Given the description of an element on the screen output the (x, y) to click on. 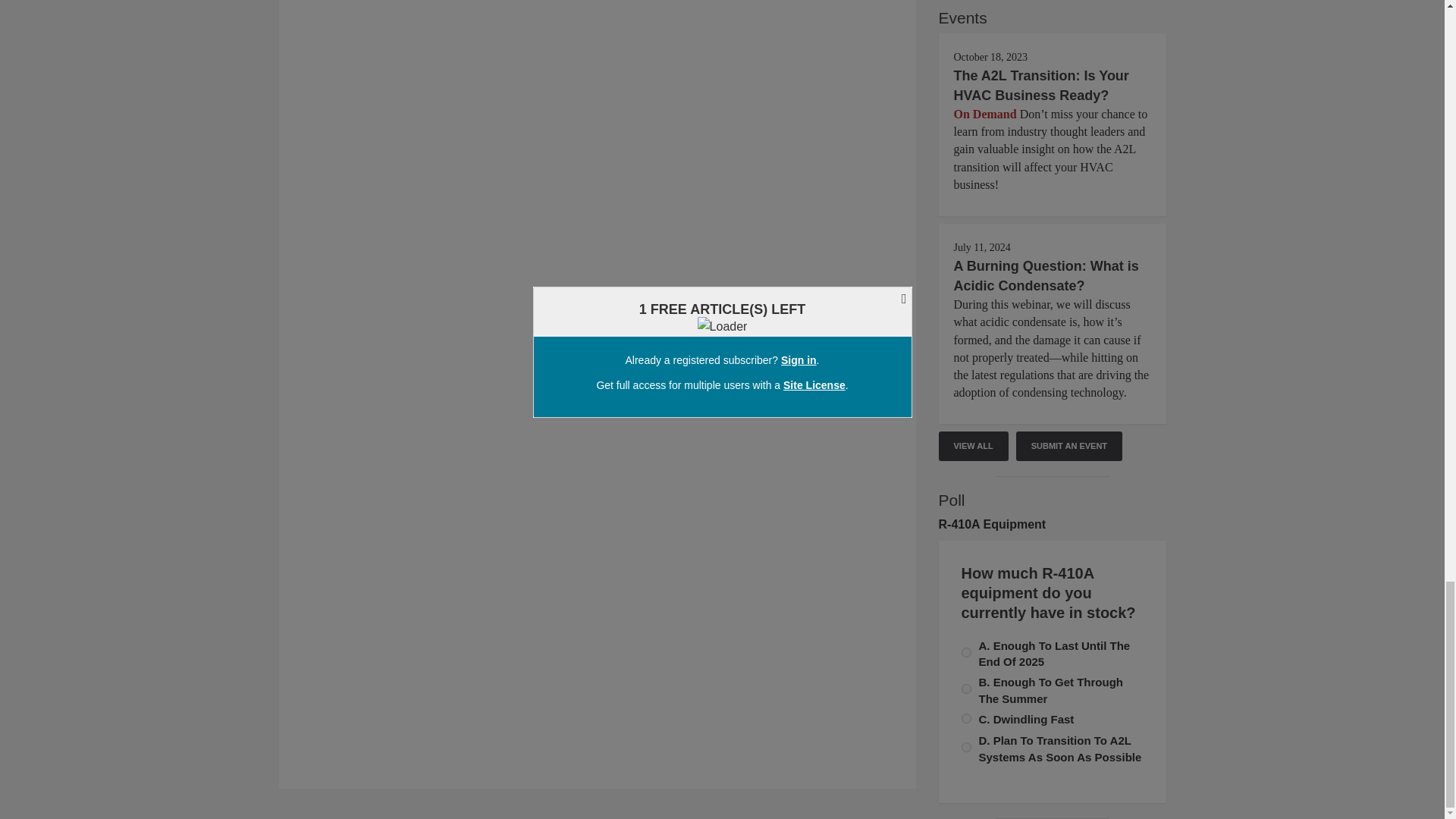
A Burning Question: What is Acidic Condensate? (1045, 275)
599 (965, 747)
597 (965, 652)
598 (965, 718)
596 (965, 688)
The A2L Transition: Is Your HVAC Business Ready? (1041, 85)
